Given the description of an element on the screen output the (x, y) to click on. 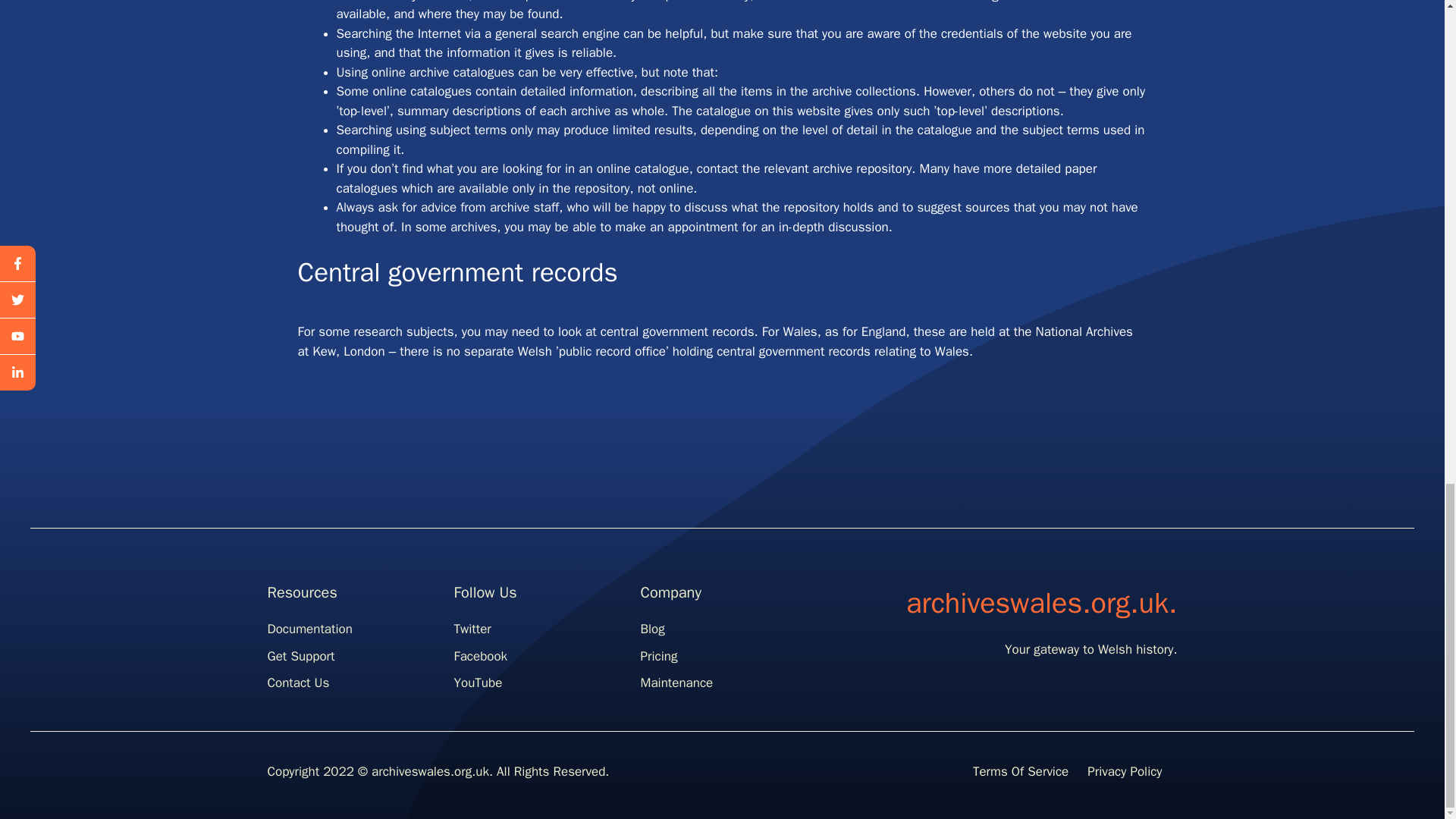
Blog (651, 628)
Contact Us (297, 682)
Documentation (309, 628)
YouTube (477, 682)
Get Support (300, 656)
Terms Of Service (1020, 771)
Facebook (479, 656)
Maintenance (676, 682)
Pricing (658, 656)
Twitter (471, 628)
Privacy Policy (1124, 771)
